Given the description of an element on the screen output the (x, y) to click on. 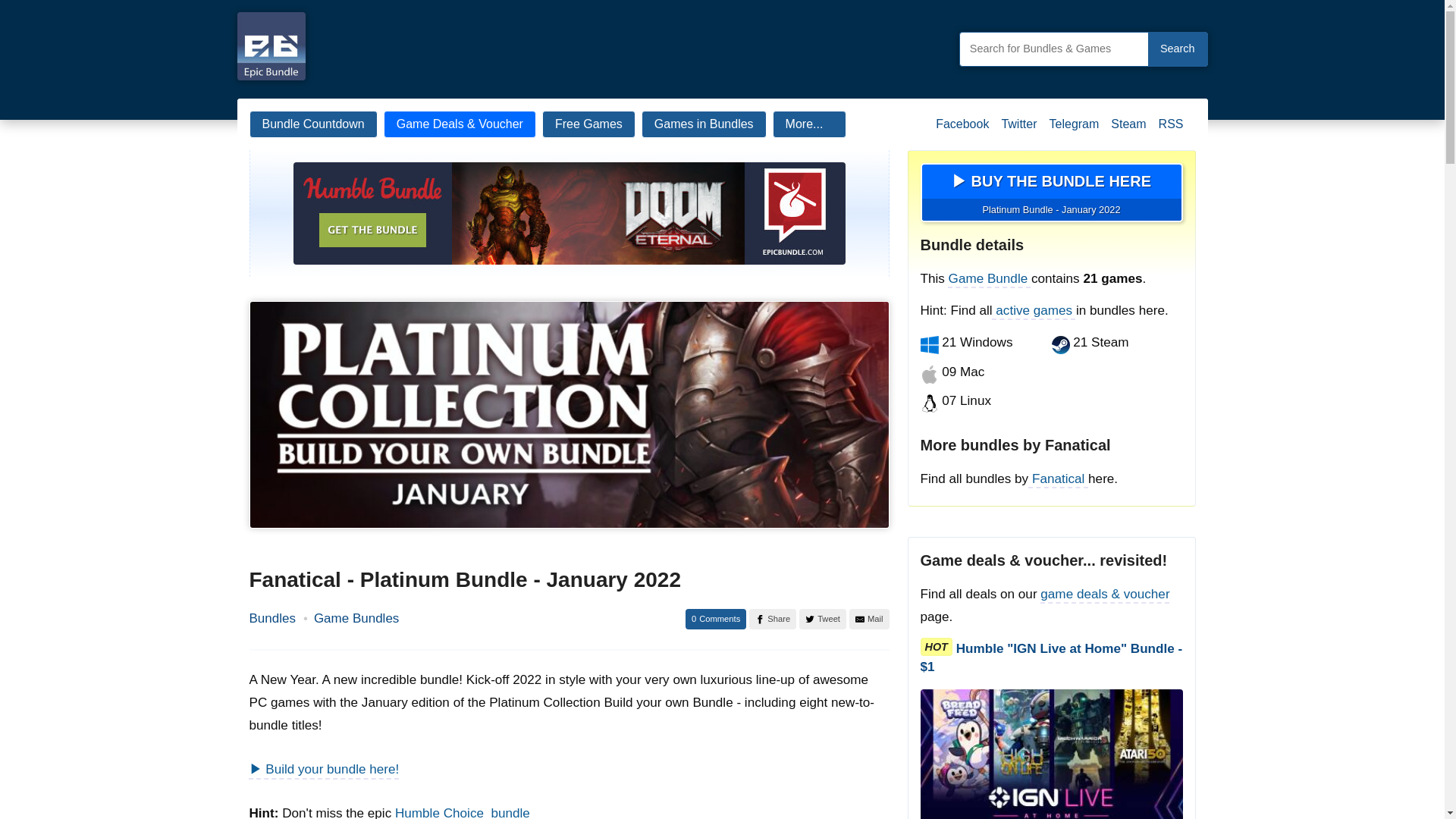
Facebook (962, 129)
Share (772, 619)
Bundles (271, 618)
0 (715, 619)
Search (1177, 49)
Games in Bundles (704, 124)
Free Games (587, 124)
Twitter (1018, 129)
Search (1177, 49)
Humble Choice  bundle (461, 812)
RSS (1171, 129)
Game Bundles (356, 618)
